Given the description of an element on the screen output the (x, y) to click on. 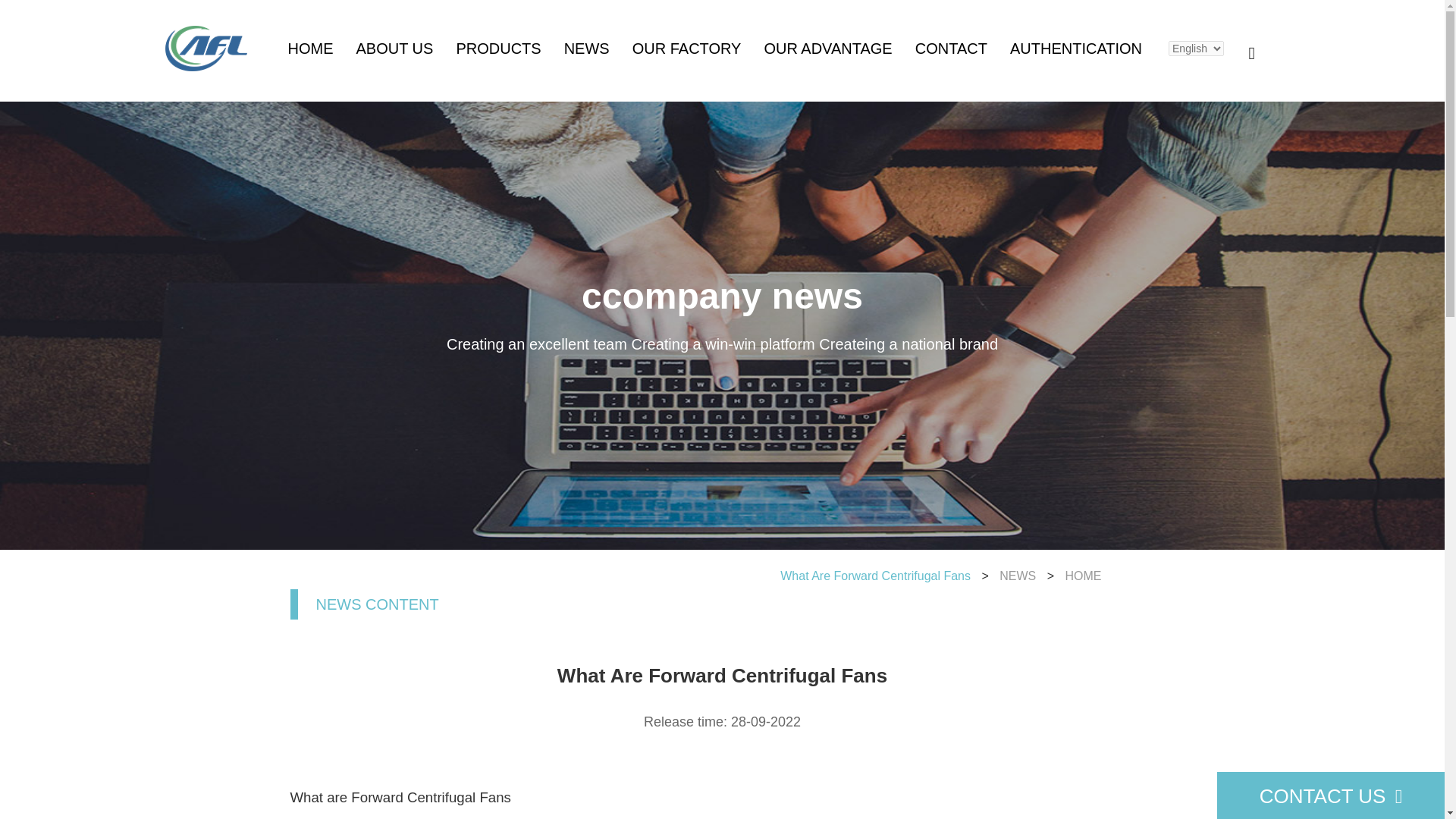
OUR ADVANTAGE (826, 48)
AUTHENTICATION (1075, 48)
CONTACT (951, 48)
OUR FACTORY (686, 48)
ABOUT US (394, 48)
HOME (310, 48)
HOME (520, 575)
NEWS (427, 575)
PRODUCTS (497, 48)
NEWS (587, 48)
